Given the description of an element on the screen output the (x, y) to click on. 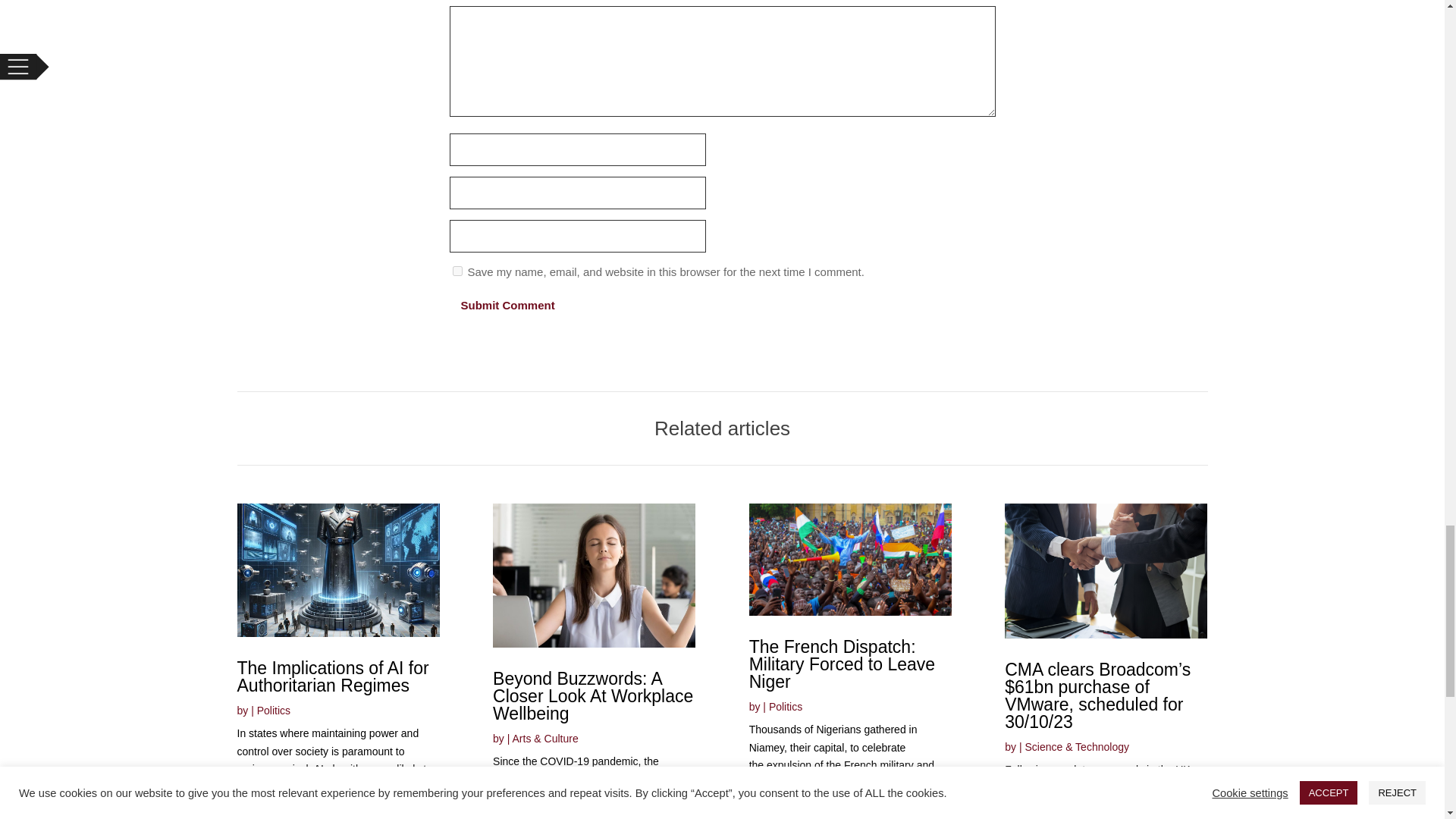
yes (456, 271)
